Given the description of an element on the screen output the (x, y) to click on. 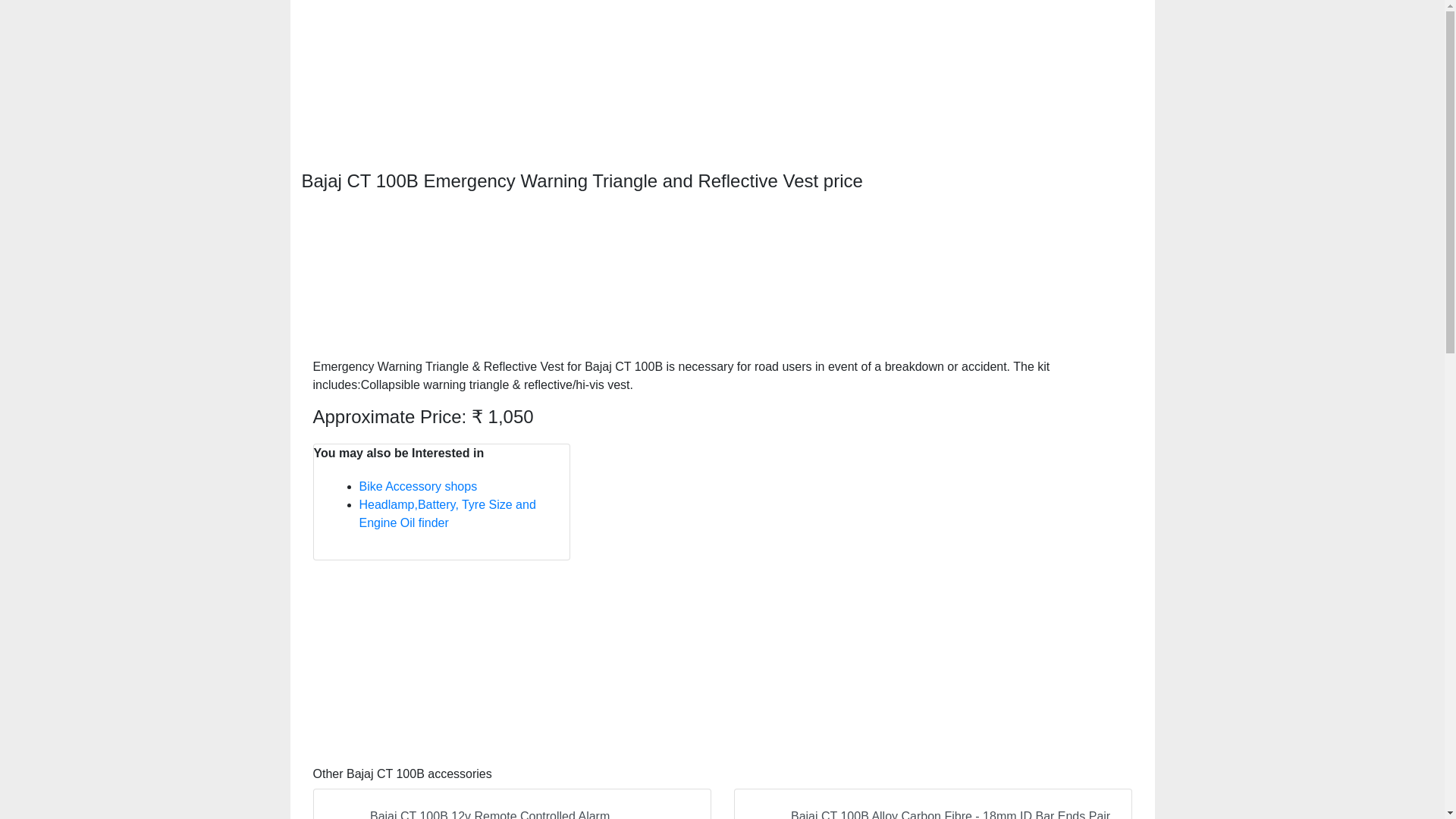
Headlamp,Battery, Tyre Size and Engine Oil finder (447, 513)
Advertisement (721, 655)
Bike Accessory shops (418, 486)
Bajaj CT 100B 12v Remote Controlled Alarm (511, 803)
Bajaj CT 100B Alloy Carbon Fibre - 18mm ID Bar Ends Pair (932, 803)
